Given the description of an element on the screen output the (x, y) to click on. 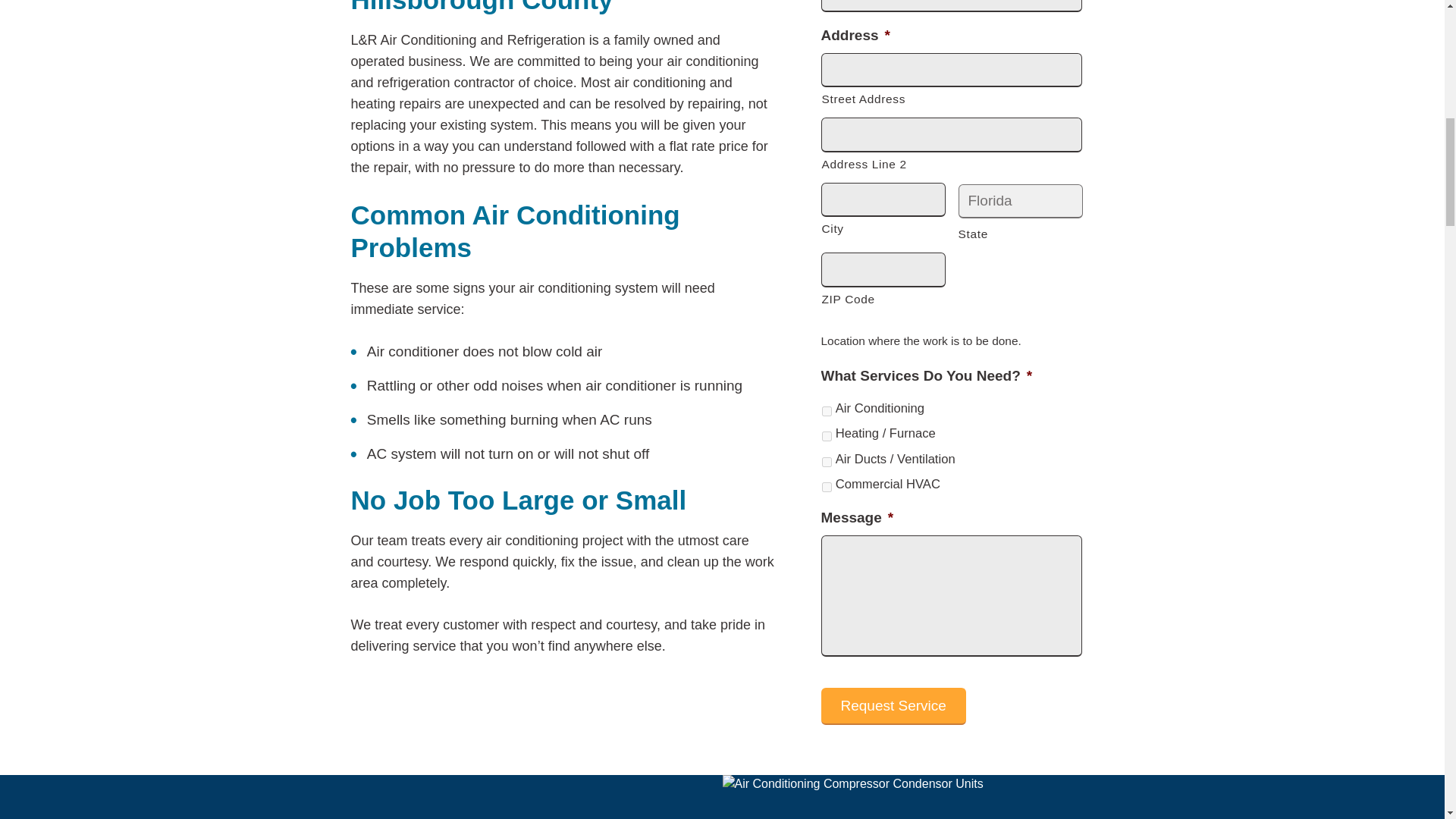
Request Service (893, 705)
Air Conditioning (826, 411)
Commercial HVAC (826, 487)
